Given the description of an element on the screen output the (x, y) to click on. 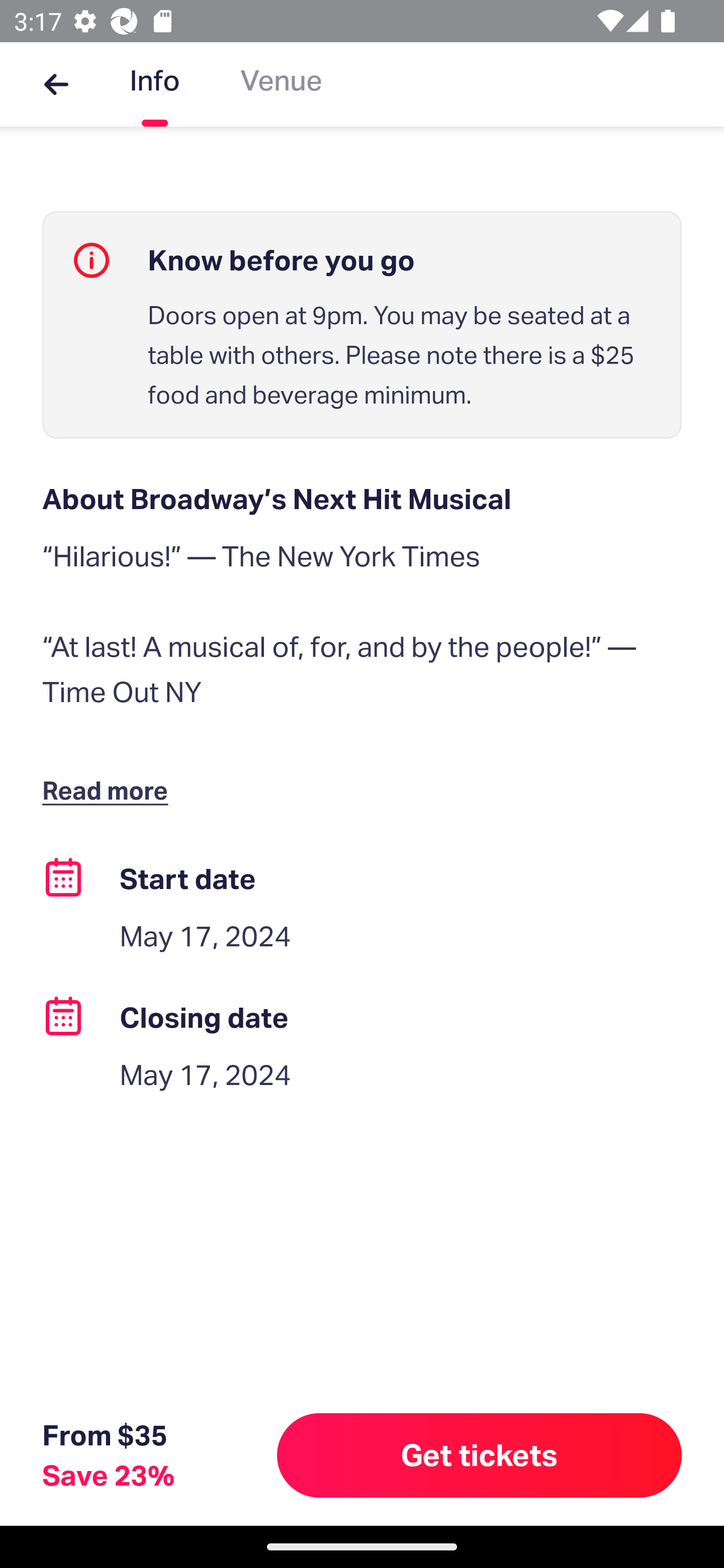
Venue (280, 84)
About Broadway’s Next Hit Musical (361, 499)
Read more (109, 790)
Get tickets (479, 1454)
